Given the description of an element on the screen output the (x, y) to click on. 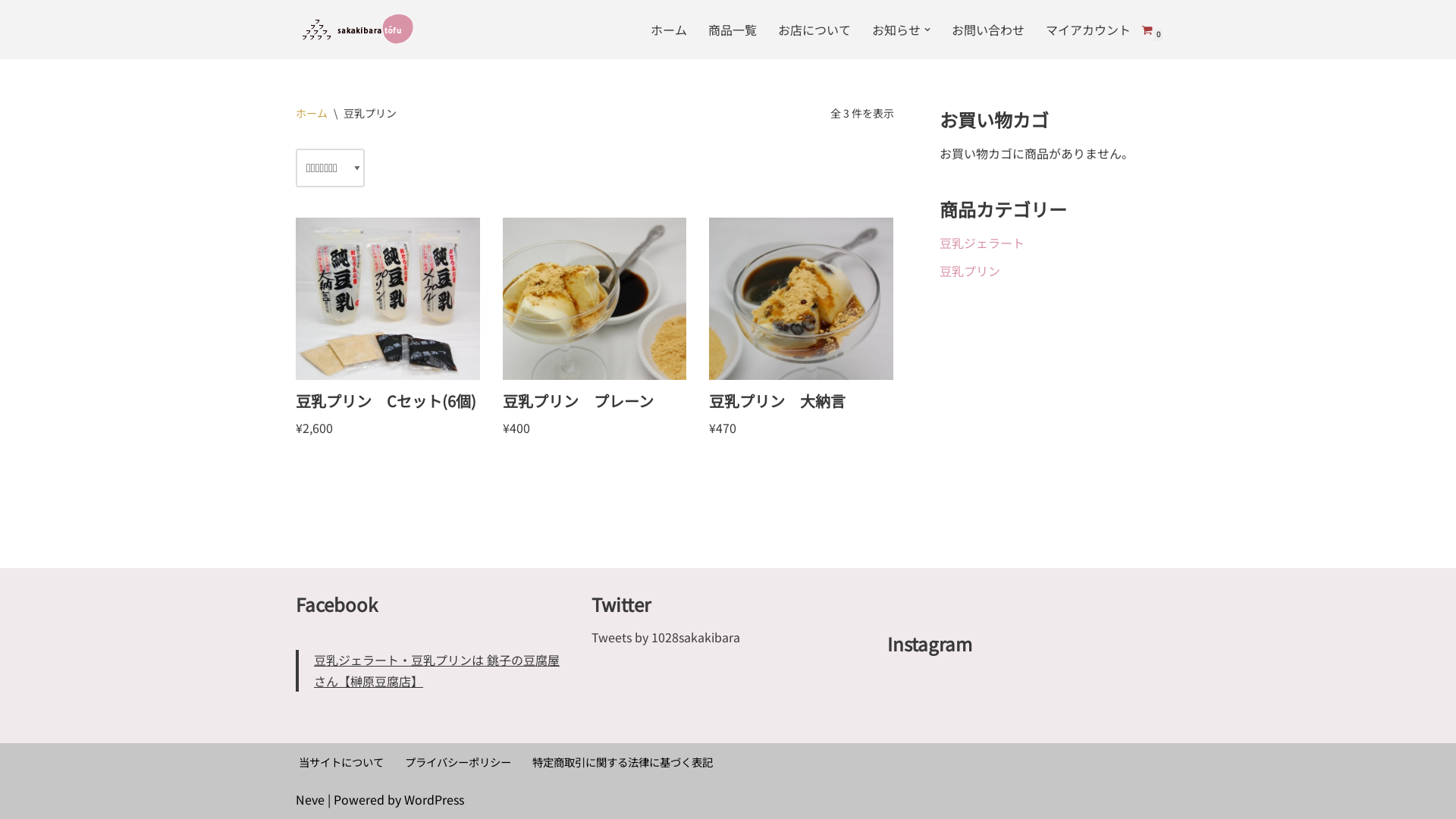
WordPress Element type: text (434, 799)
Tweets by 1028sakakibara Element type: text (665, 636)
Neve Element type: text (309, 799)
0 Element type: text (1146, 29)
